Given the description of an element on the screen output the (x, y) to click on. 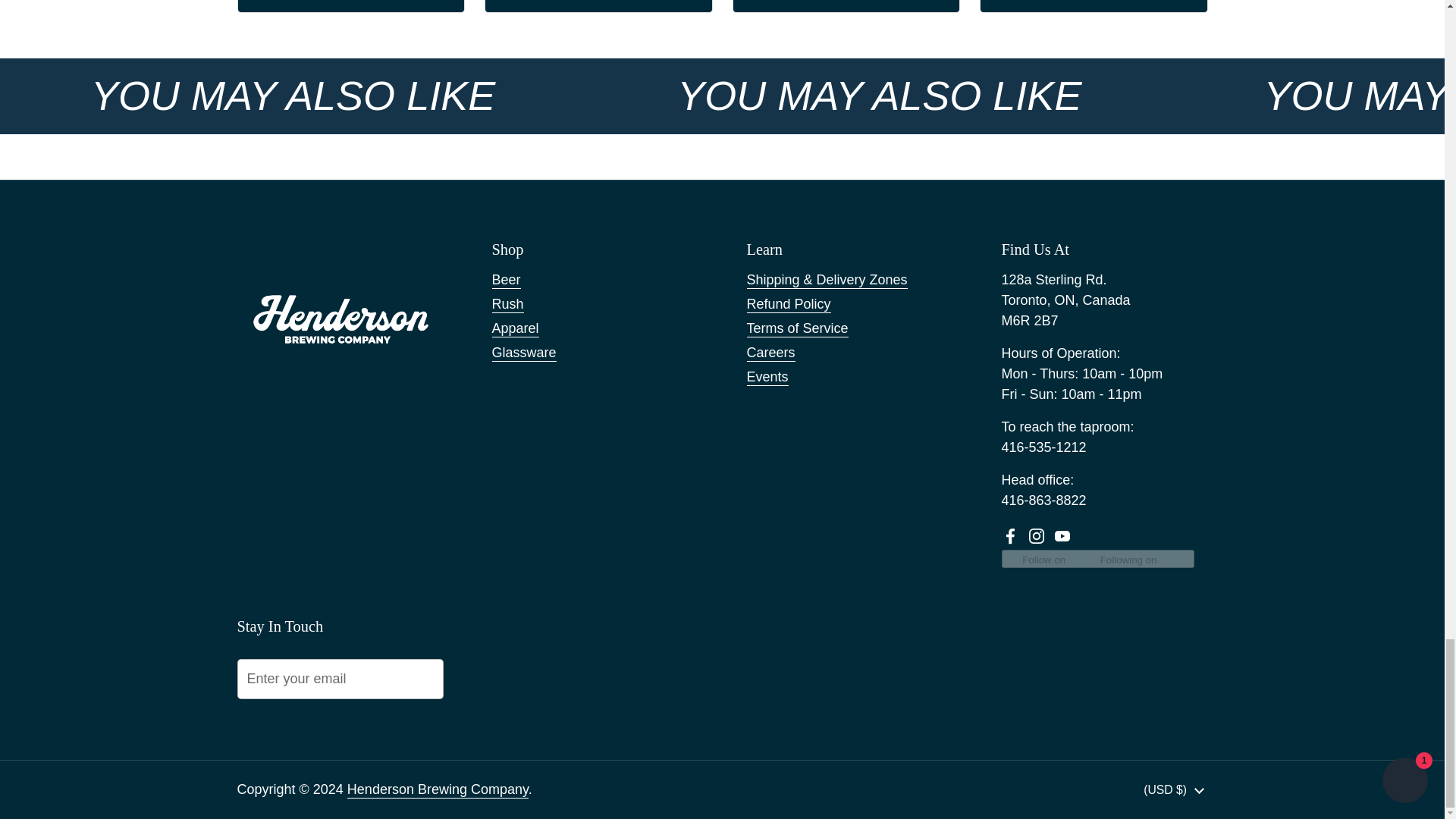
Rush Beer (351, 6)
Rush Glassware (845, 6)
Rush Apparel (597, 6)
Rush Barware (1093, 6)
YOU MAY ALSO LIKE (879, 95)
YOU MAY ALSO LIKE (293, 95)
